Given the description of an element on the screen output the (x, y) to click on. 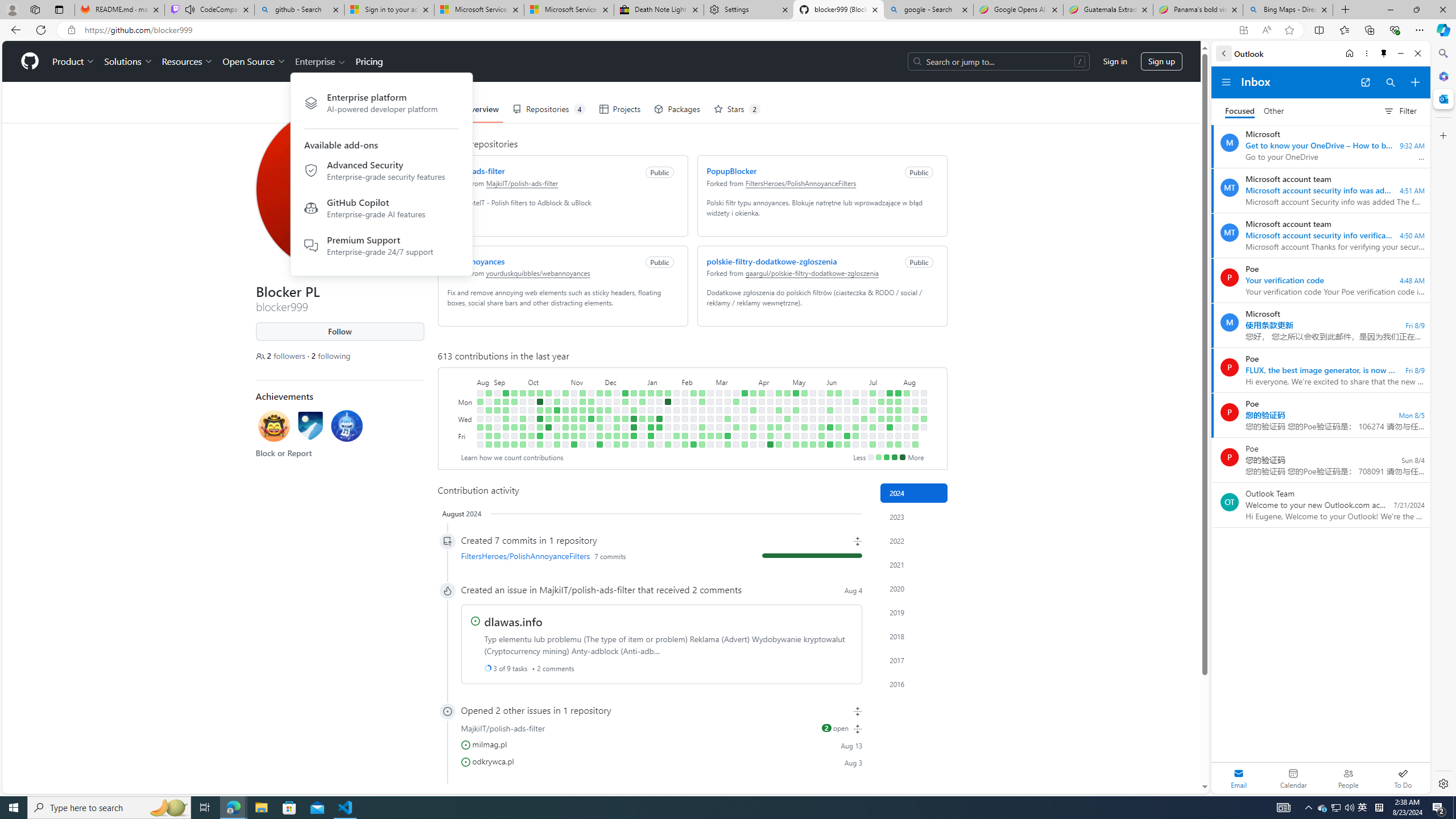
No contributions on October 26th. (556, 427)
No contributions on November 19th. (591, 392)
Packages (676, 108)
Friday (465, 435)
Settings (747, 9)
3 contributions on March 1st. (710, 435)
4 contributions on September 17th. (513, 392)
No contributions on April 15th. (770, 401)
No contributions on March 2nd. (710, 444)
Day of Week (465, 380)
1 contribution on September 27th. (522, 418)
5 contributions on December 15th. (616, 435)
4 contributions on November 8th. (573, 418)
No contributions on May 29th. (821, 418)
3 contributions on October 27th. (556, 435)
